Given the description of an element on the screen output the (x, y) to click on. 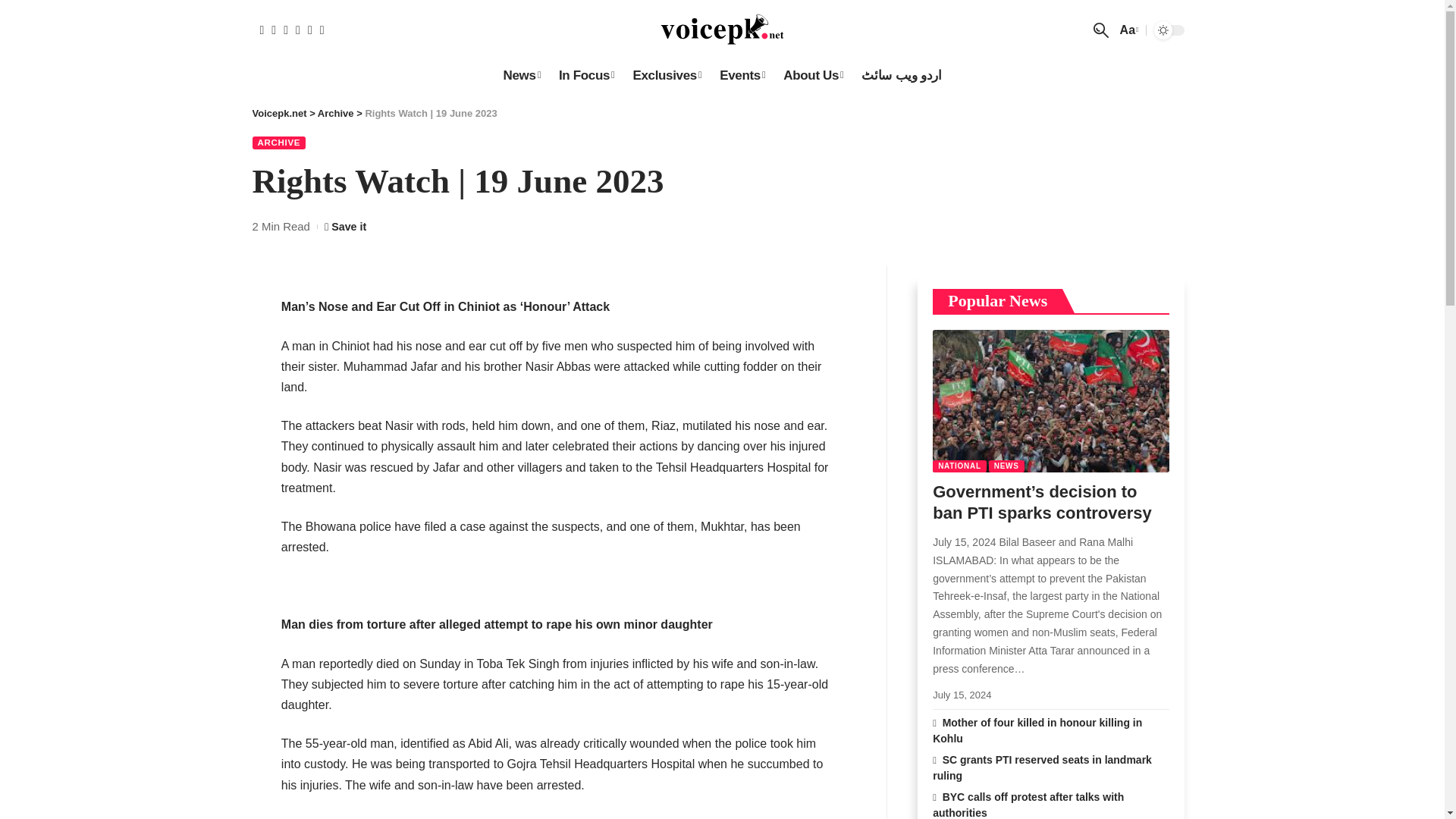
Go to Voicepk.net. (278, 112)
Aa (1127, 29)
Voicepk.net (722, 30)
Events (742, 75)
Exclusives (666, 75)
About Us (812, 75)
In Focus (587, 75)
News (520, 75)
Go to the Archive Category archives. (335, 112)
